Given the description of an element on the screen output the (x, y) to click on. 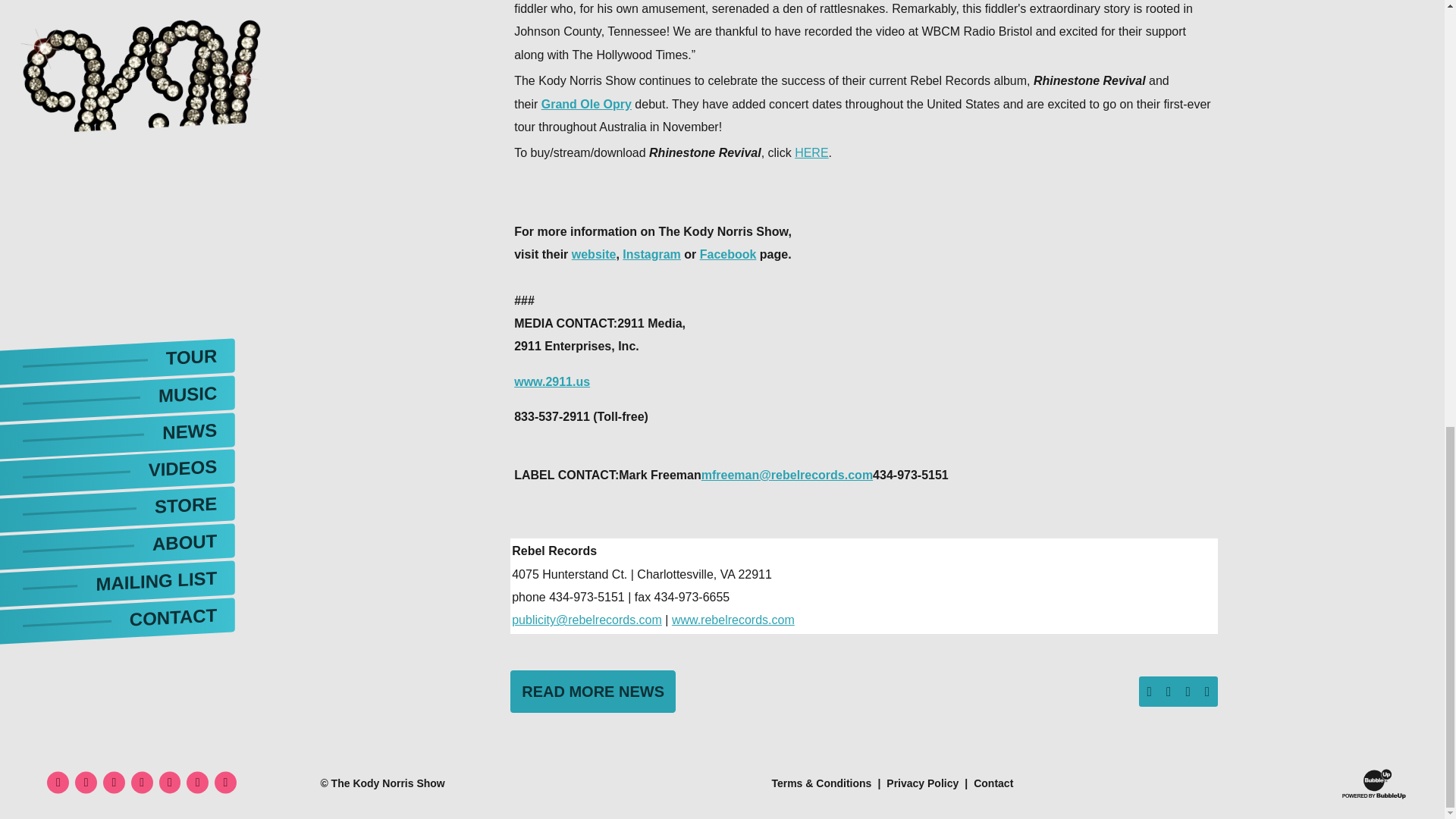
website (593, 254)
Facebook (728, 254)
www.2911.us (551, 381)
Privacy Policy (922, 783)
HERE (811, 152)
Instagram (651, 254)
www.rebelrecords.com (732, 619)
READ MORE NEWS (593, 691)
Grand Ole Opry (586, 103)
